Given the description of an element on the screen output the (x, y) to click on. 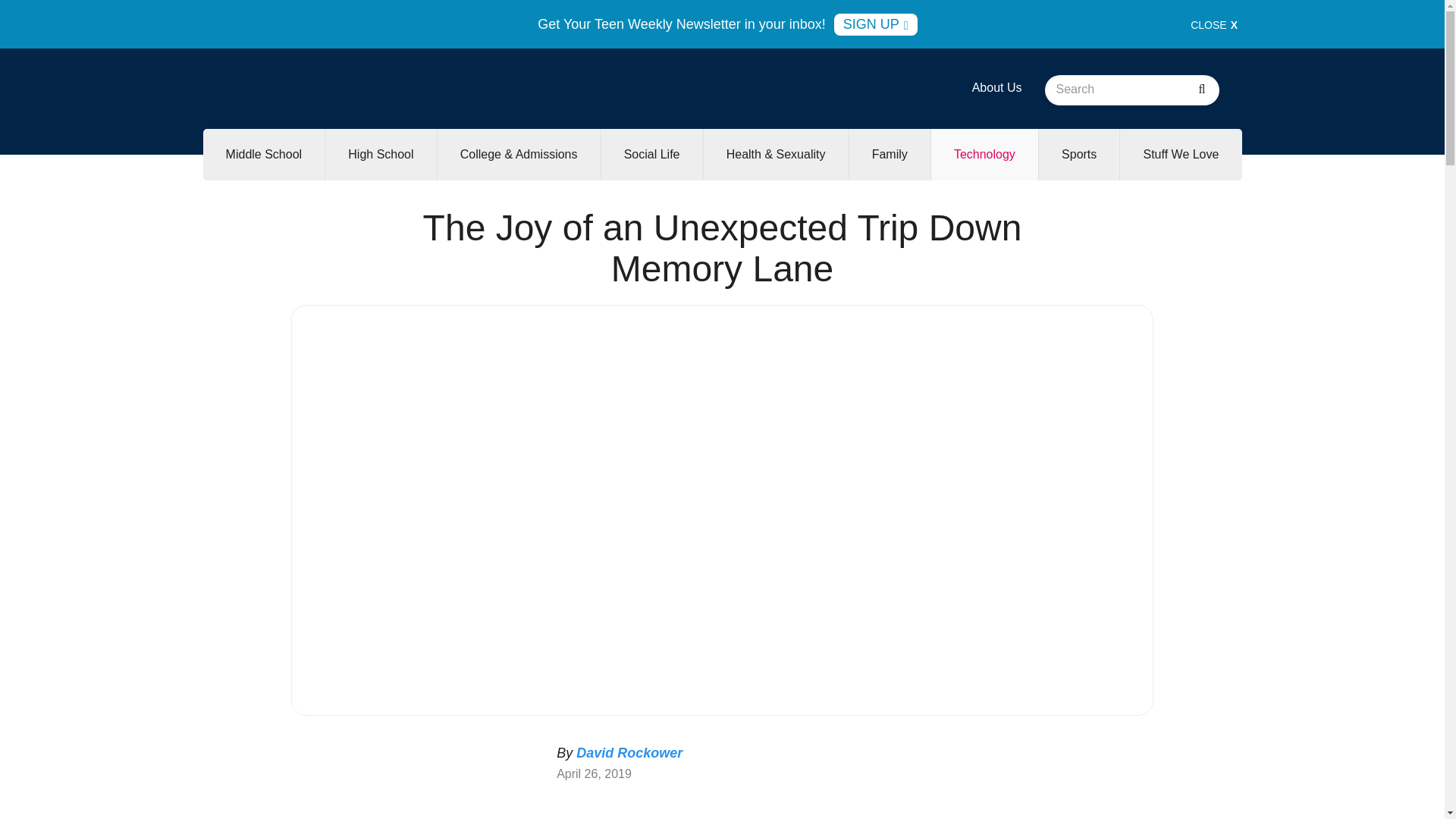
About Us (997, 87)
Sports (1079, 154)
Technology (984, 154)
Social Life (652, 154)
CLOSE (1214, 24)
SIGN UP (875, 24)
High School (379, 154)
Family (889, 154)
Middle School (263, 154)
Stuff We Love (1180, 154)
Search (1201, 90)
